Given the description of an element on the screen output the (x, y) to click on. 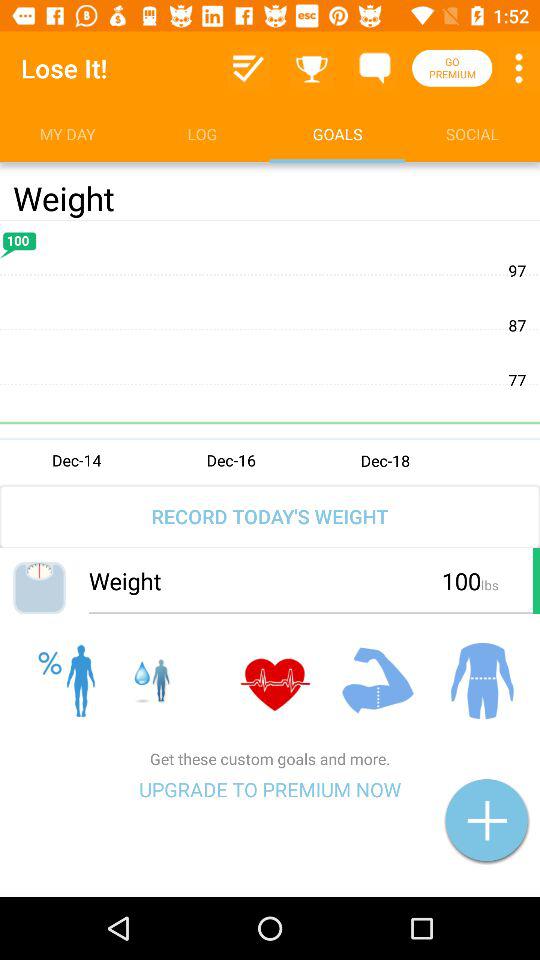
settings (519, 68)
